Given the description of an element on the screen output the (x, y) to click on. 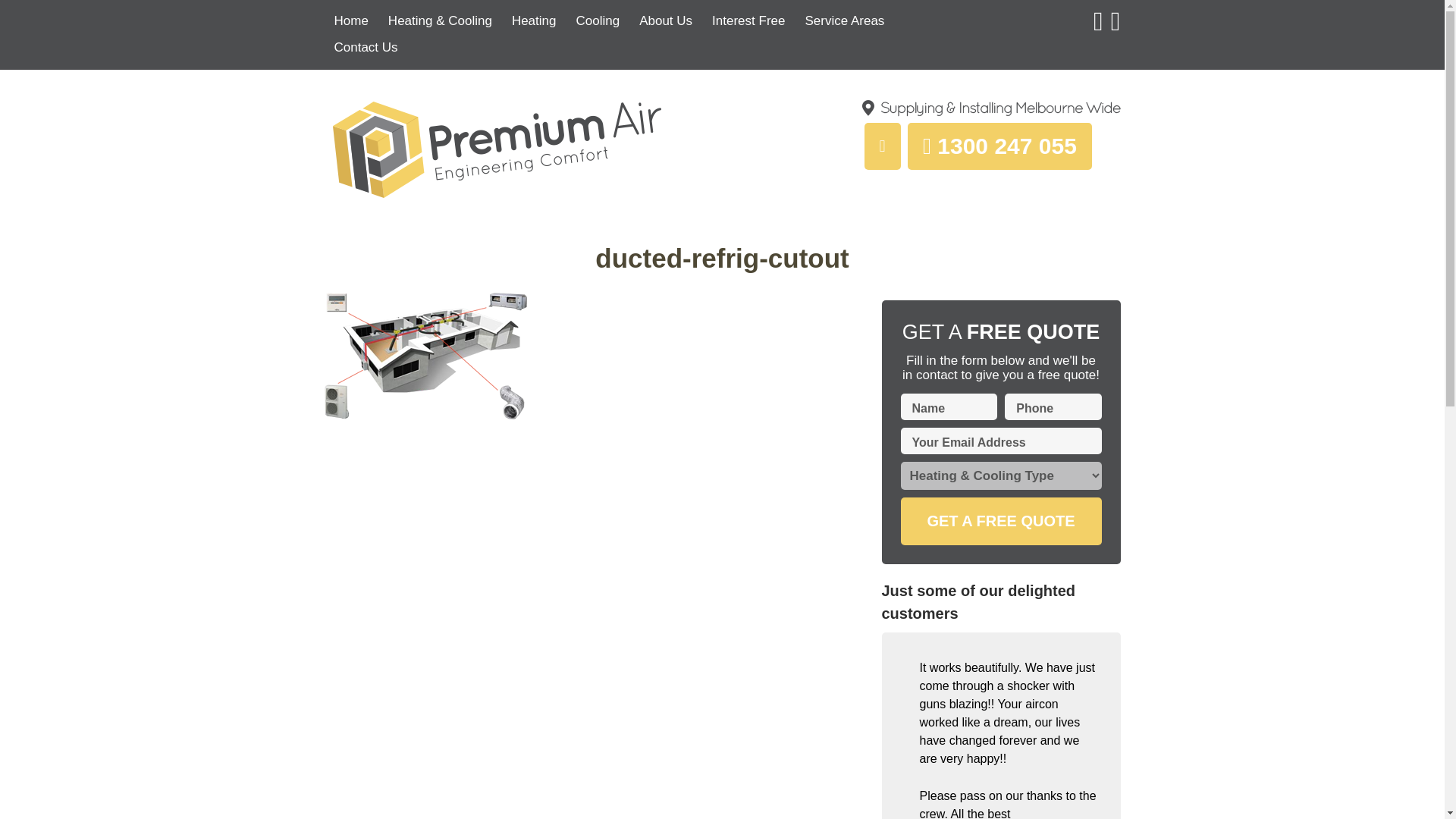
About Us (664, 20)
Service Areas (843, 20)
Interest Free (747, 20)
Contact Us (365, 47)
Cooling (597, 20)
Home (351, 20)
1300 247 055 (1001, 128)
Heating (534, 20)
Get A FREE Quote (1001, 521)
